Given the description of an element on the screen output the (x, y) to click on. 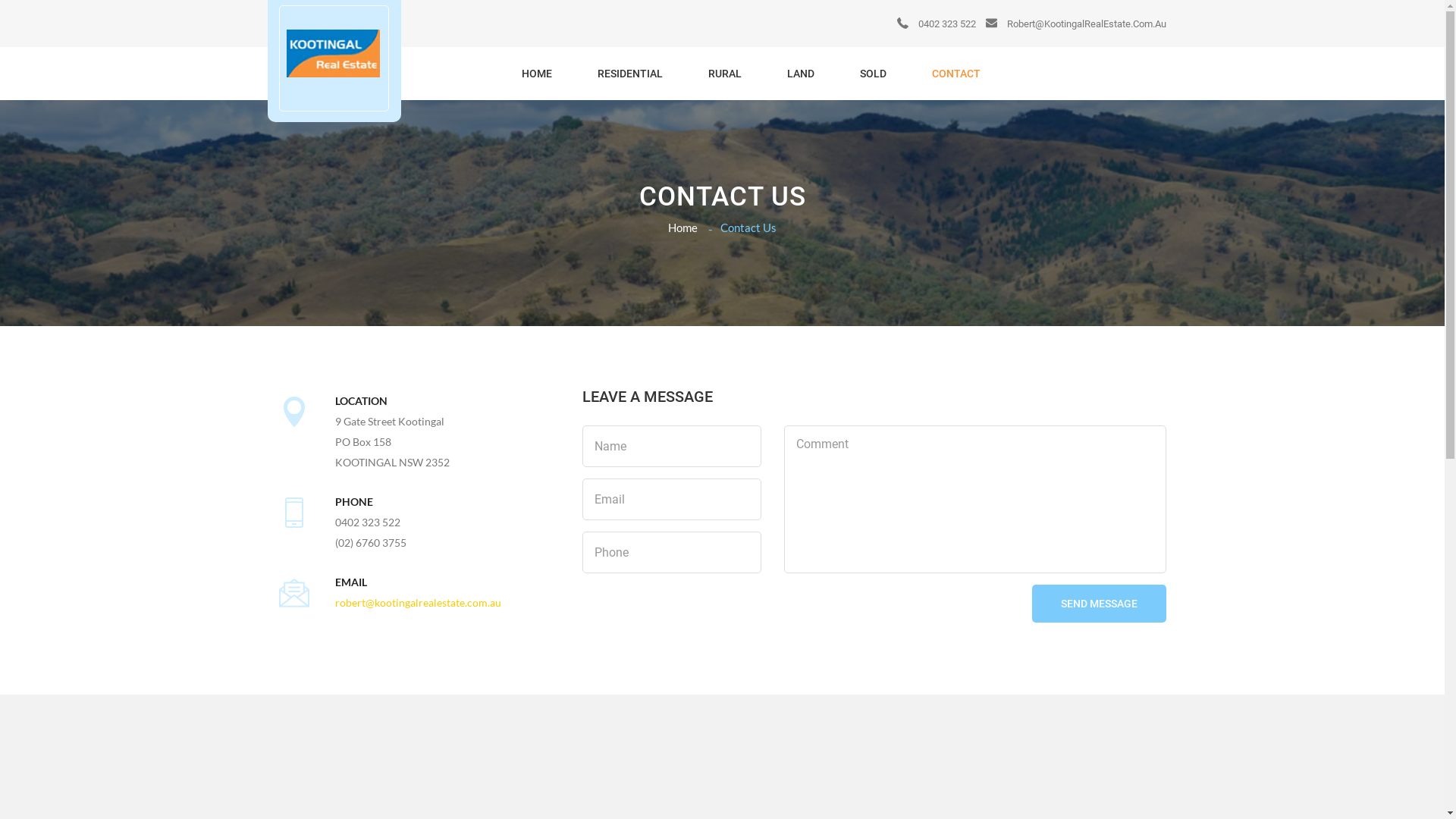
Robert@KootingalRealEstate.Com.Au Element type: text (1075, 23)
SOLD Element type: text (872, 73)
SEND MESSAGE Element type: text (1098, 603)
robert@kootingalrealestate.com.au Element type: text (418, 602)
RURAL Element type: text (724, 73)
CONTACT Element type: text (955, 73)
0402 323 522 Element type: text (935, 23)
RESIDENTIAL Element type: text (629, 73)
LAND Element type: text (800, 73)
HOME Element type: text (536, 73)
Home Element type: text (682, 227)
